Given the description of an element on the screen output the (x, y) to click on. 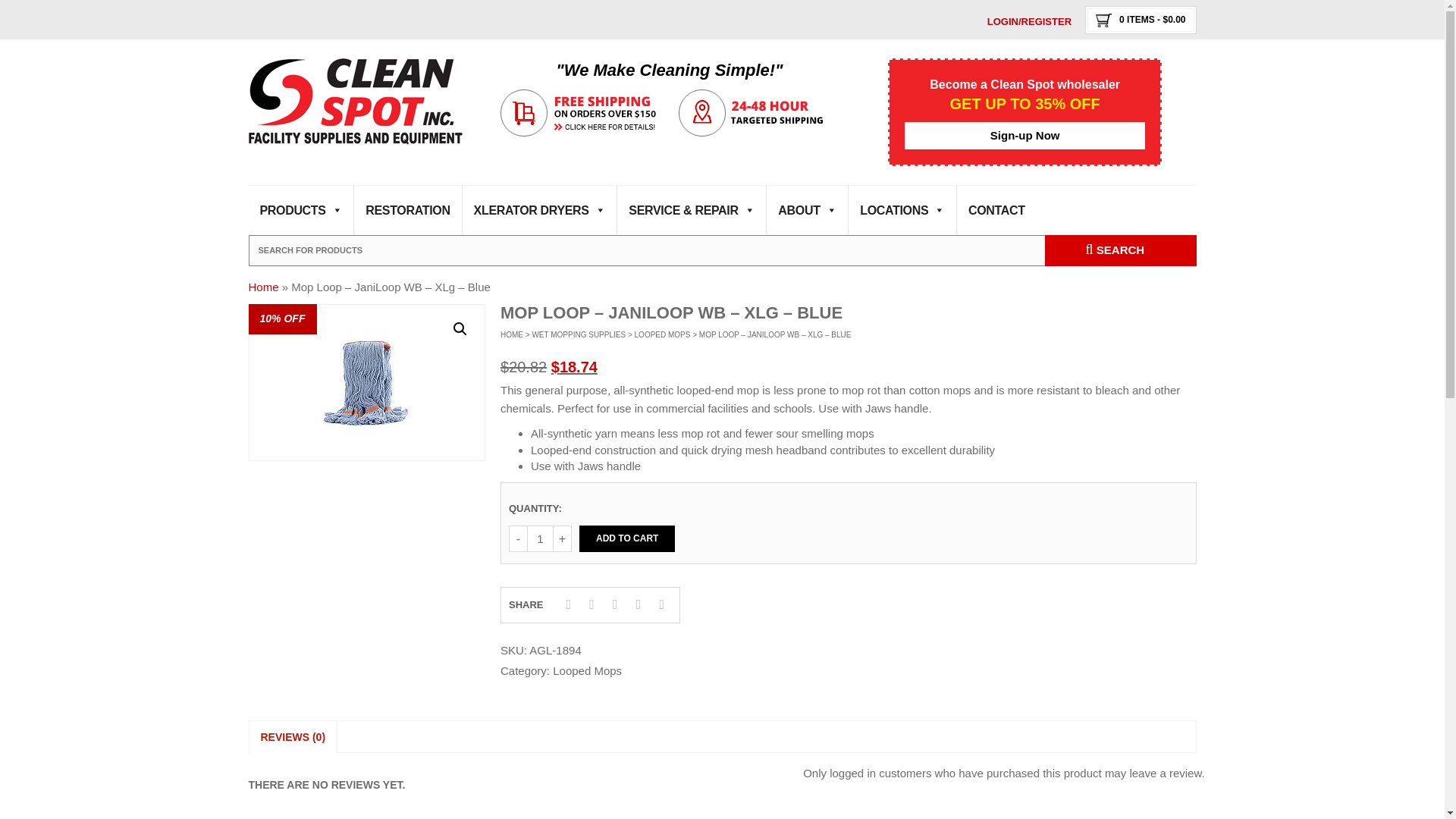
Clean Spot (355, 101)
1 (540, 538)
Search (1120, 250)
Clean Spot (355, 100)
